Given the description of an element on the screen output the (x, y) to click on. 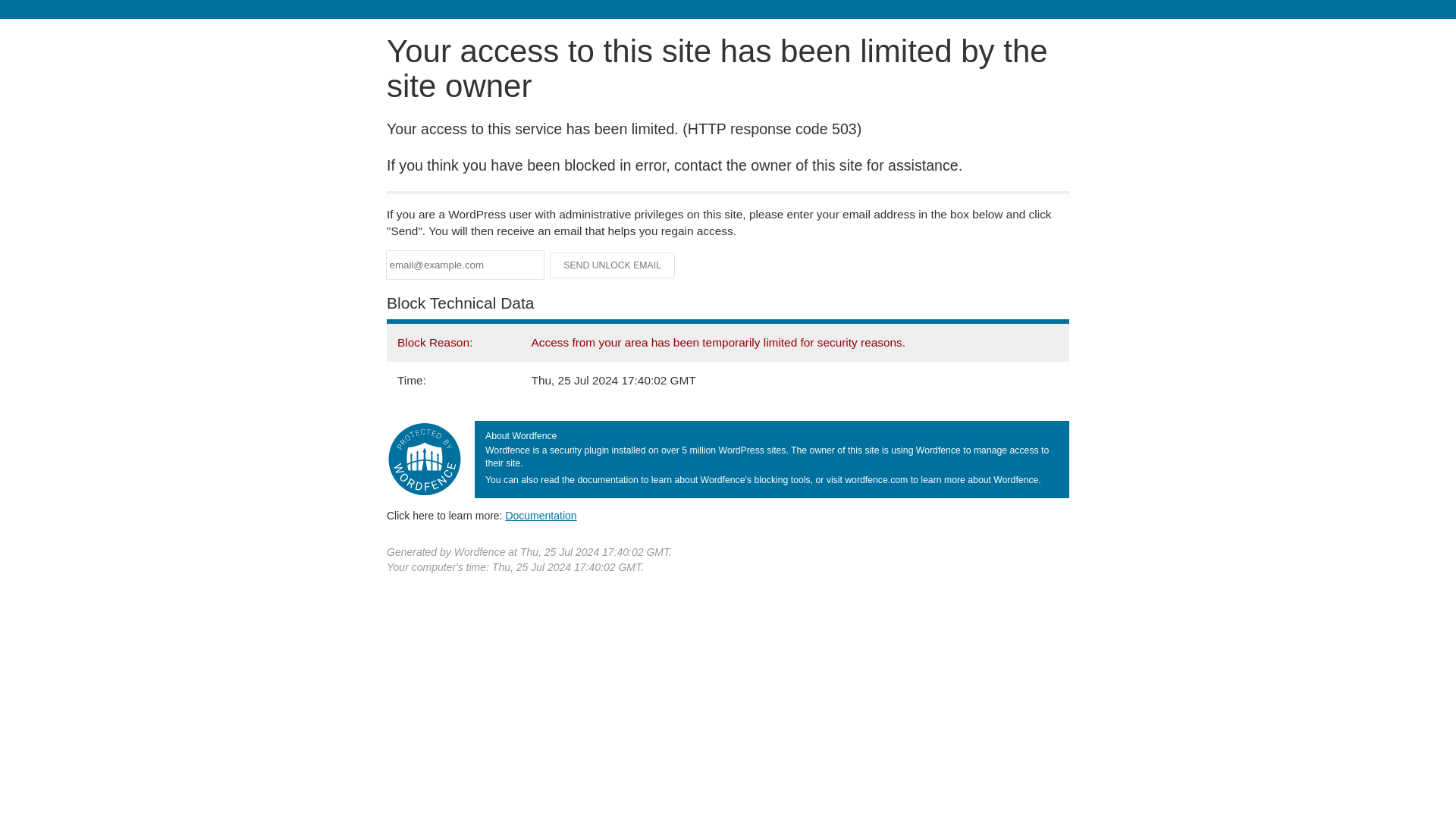
Send Unlock Email (612, 265)
Send Unlock Email (612, 265)
Documentation (540, 515)
